Given the description of an element on the screen output the (x, y) to click on. 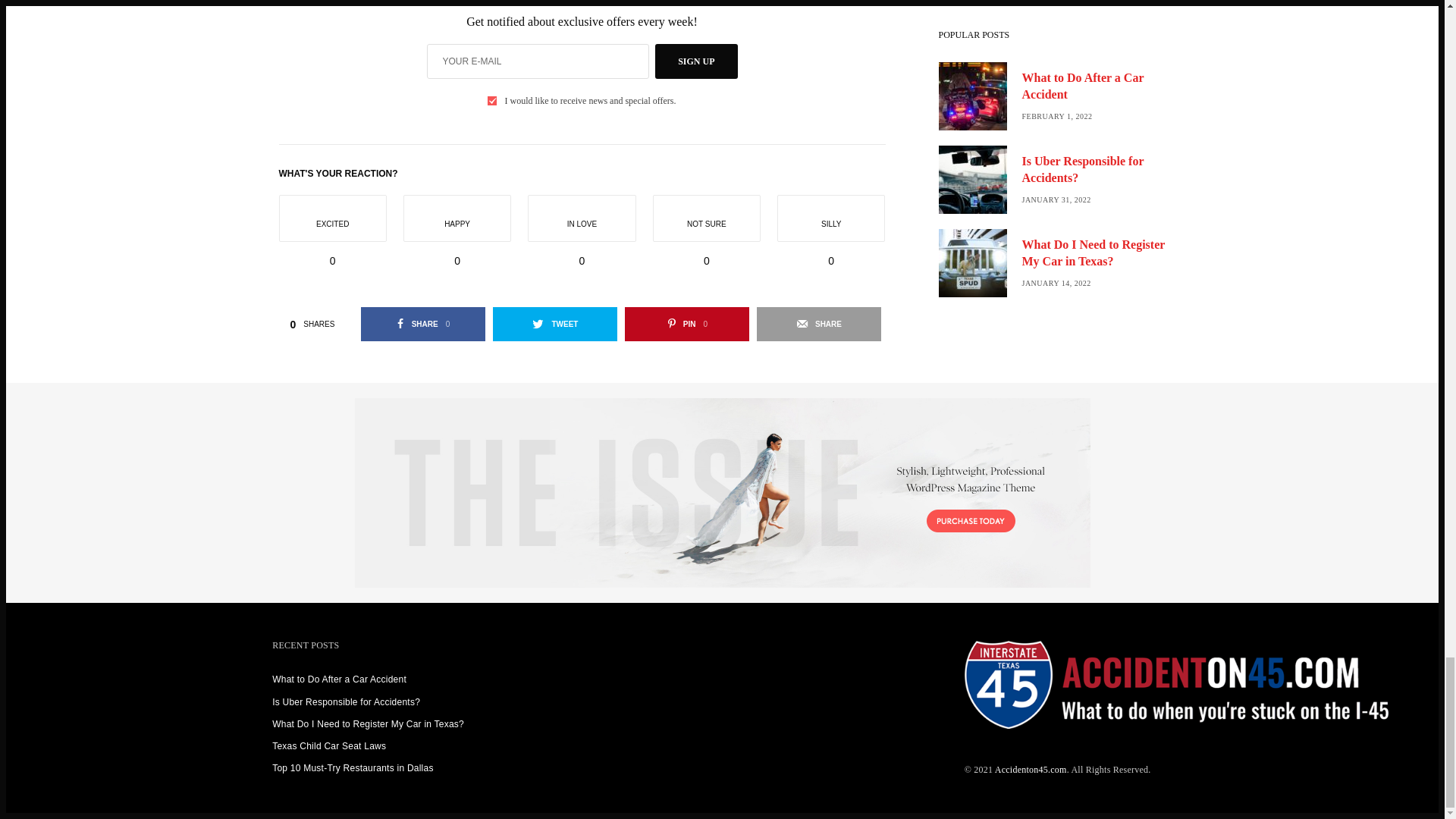
SHARE (818, 324)
TWEET (555, 324)
SIGN UP (695, 61)
